Given the description of an element on the screen output the (x, y) to click on. 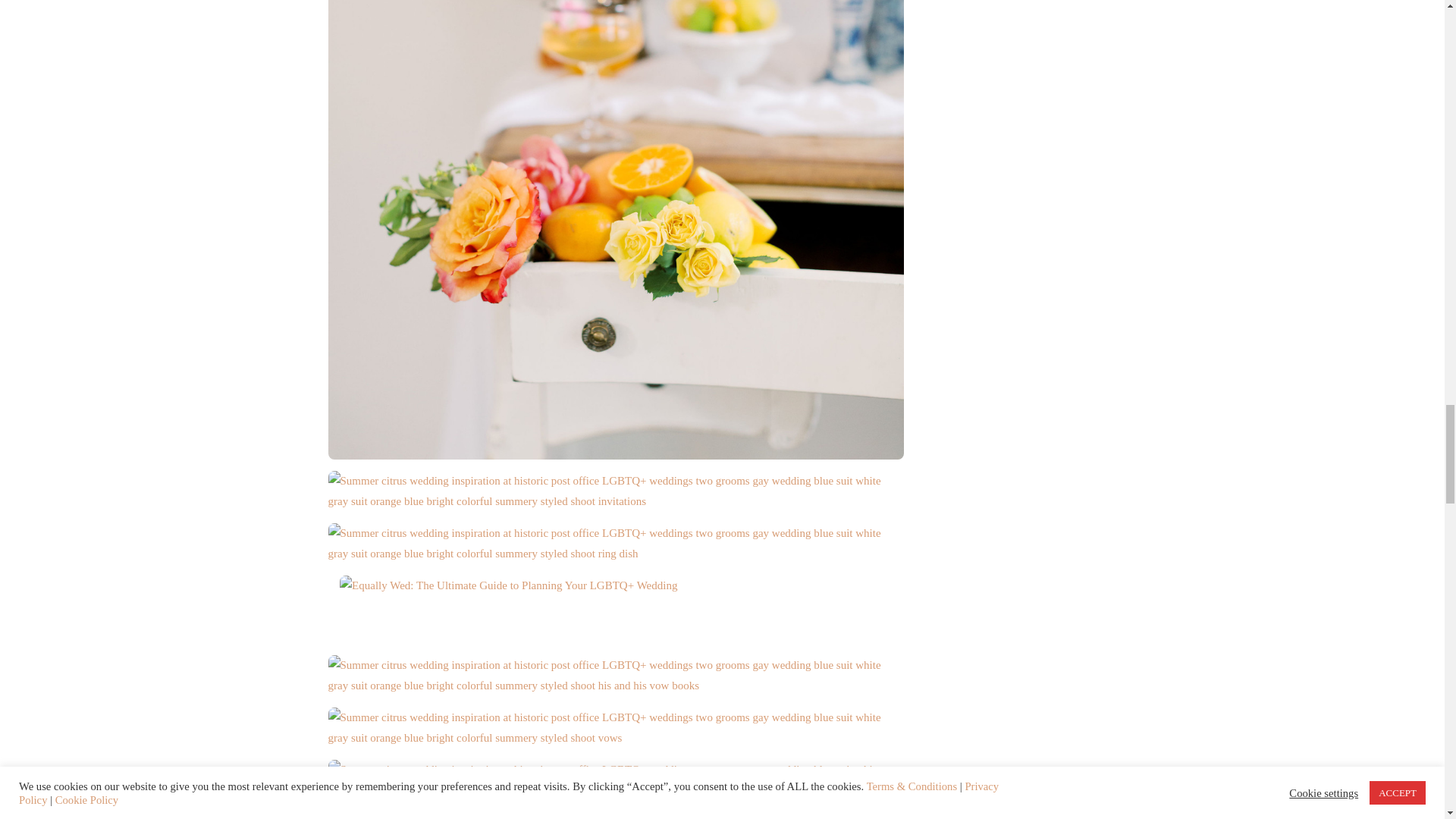
Summer citrus wedding inspiration at historic post office (614, 542)
Summer citrus wedding inspiration at historic post office (614, 779)
Summer citrus wedding inspiration at historic post office (614, 727)
Summer citrus wedding inspiration at historic post office (614, 490)
Summer citrus wedding inspiration at historic post office (614, 674)
Summer citrus wedding inspiration at historic post office (614, 74)
